Given the description of an element on the screen output the (x, y) to click on. 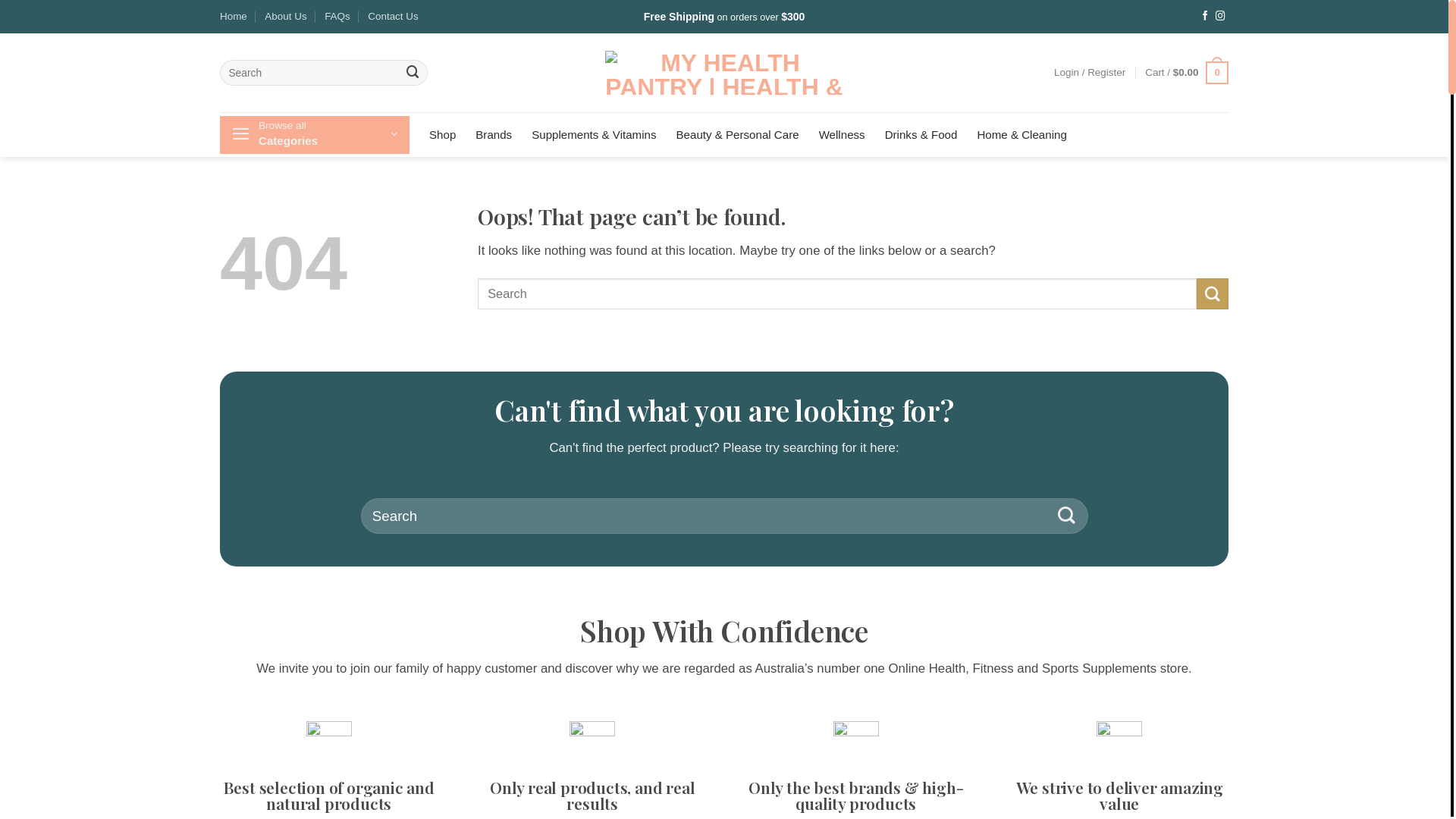
About Us Element type: text (285, 16)
Wellness Element type: text (842, 134)
Follow on Instagram Element type: hover (1220, 16)
Search Element type: text (412, 72)
Home Element type: text (233, 16)
Drinks & Food Element type: text (920, 134)
Beauty & Personal Care Element type: text (737, 134)
Contact Us Element type: text (392, 16)
Login / Register Element type: text (1089, 72)
Follow on Facebook Element type: hover (1205, 16)
FAQs Element type: text (337, 16)
Shop Element type: text (442, 134)
Search Element type: text (1066, 515)
Supplements & Vitamins Element type: text (593, 134)
Home & Cleaning Element type: text (1021, 134)
Brands Element type: text (493, 134)
Cart / $0.00
0 Element type: text (1186, 72)
